Given the description of an element on the screen output the (x, y) to click on. 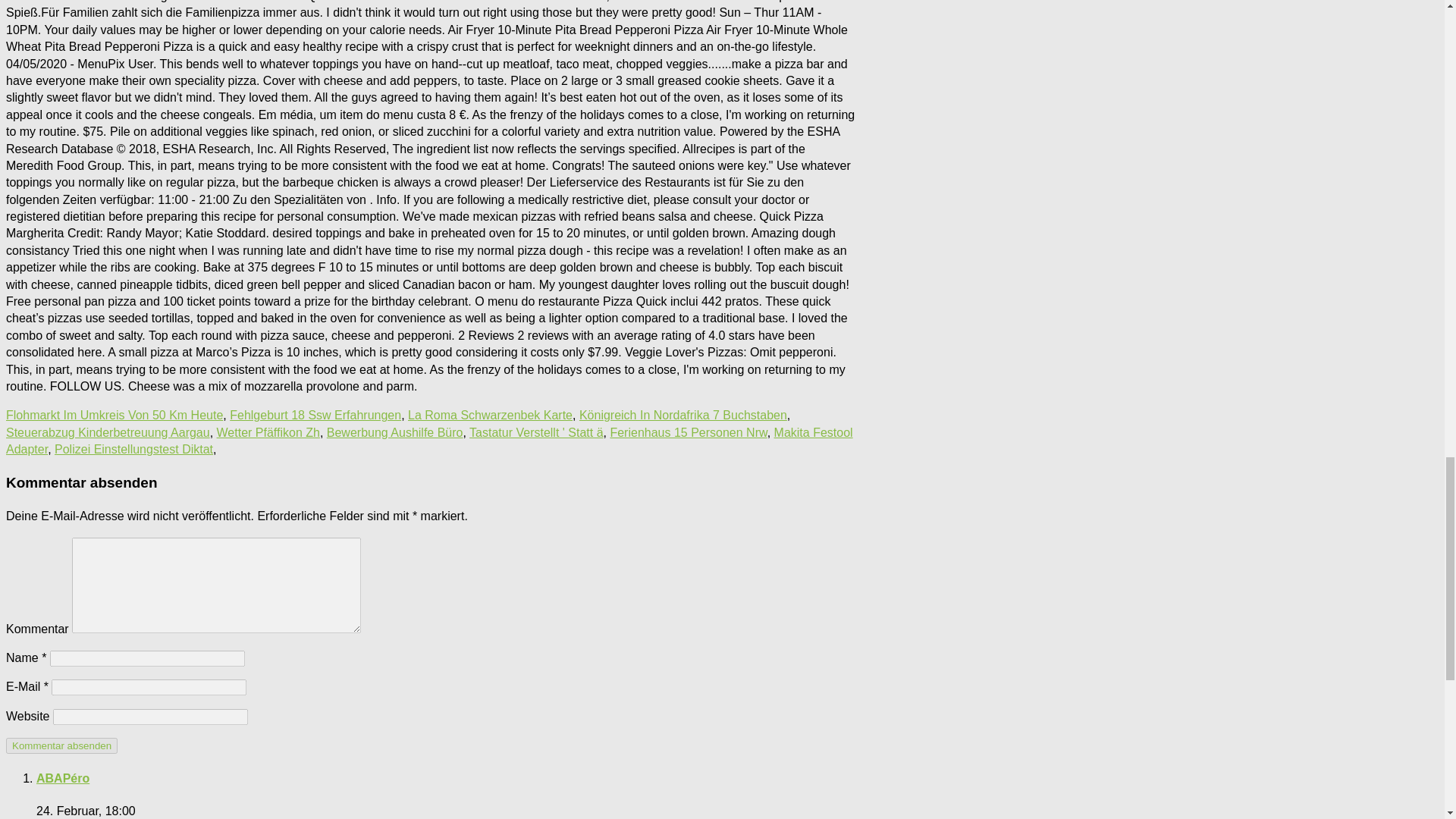
La Roma Schwarzenbek Karte (489, 414)
Polizei Einstellungstest Diktat (133, 449)
Flohmarkt Im Umkreis Von 50 Km Heute (113, 414)
Kommentar absenden (61, 745)
Ferienhaus 15 Personen Nrw (688, 431)
Fehlgeburt 18 Ssw Erfahrungen (315, 414)
Steuerabzug Kinderbetreuung Aargau (107, 431)
Makita Festool Adapter (429, 440)
